Given the description of an element on the screen output the (x, y) to click on. 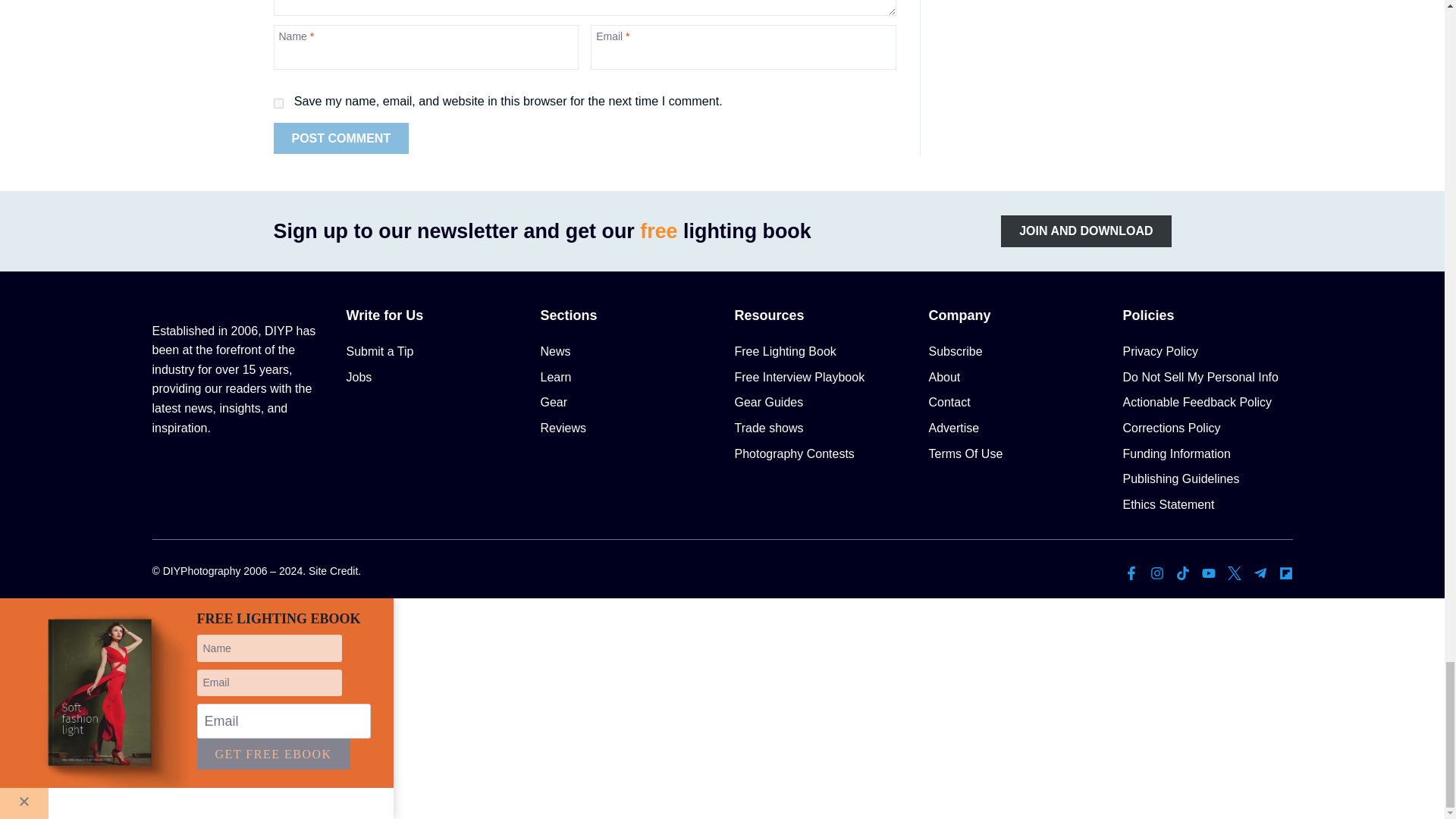
yes (277, 103)
Post Comment (341, 138)
